Given the description of an element on the screen output the (x, y) to click on. 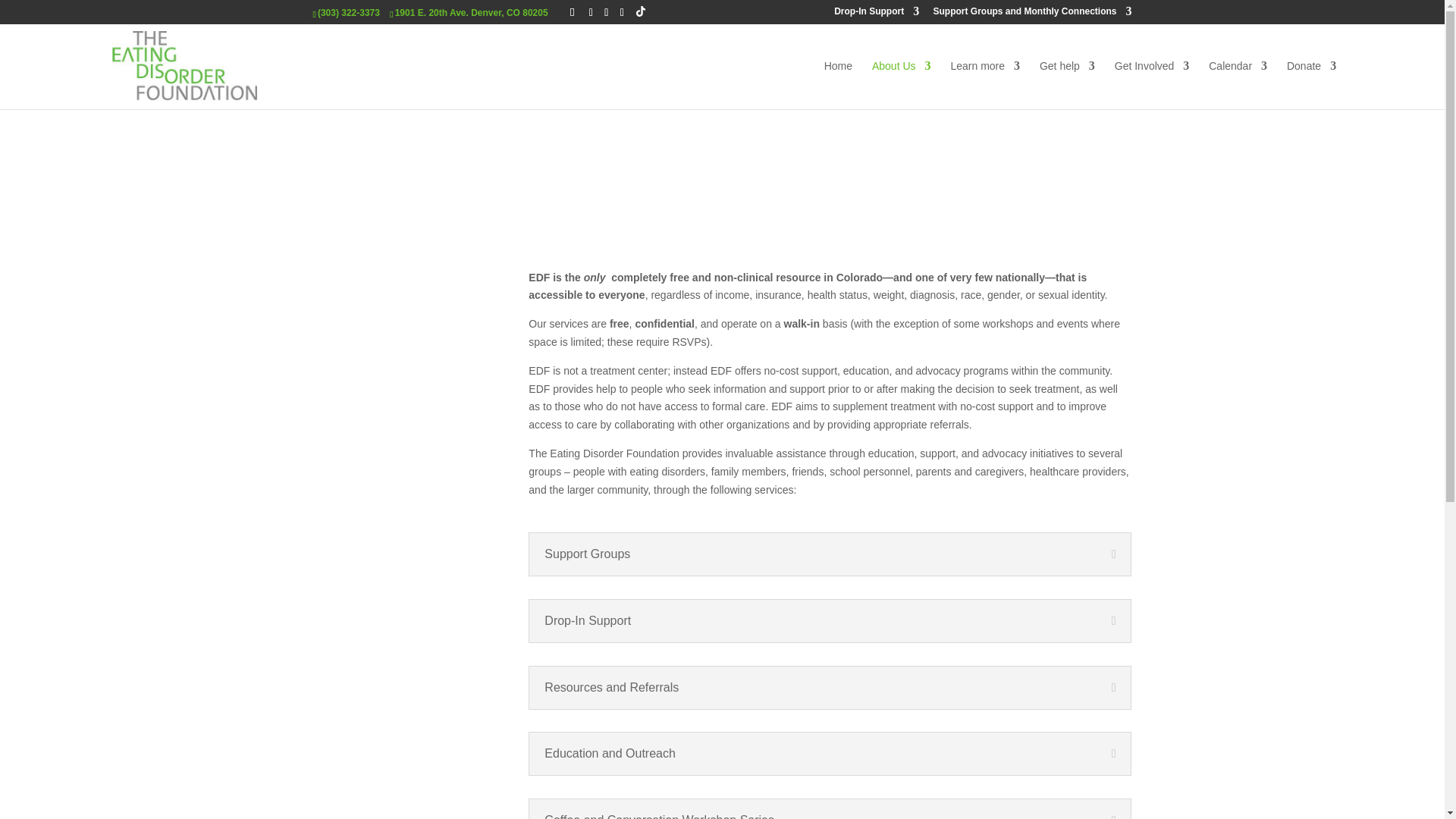
About Us (901, 84)
1901 E. 20th Ave. Denver, CO 80205 (471, 12)
Support Groups and Monthly Connections (1032, 14)
1901 E. 20th Ave. Denver, CO 80205 (471, 12)
Drop-In Support (876, 14)
Learn more (985, 84)
